Given the description of an element on the screen output the (x, y) to click on. 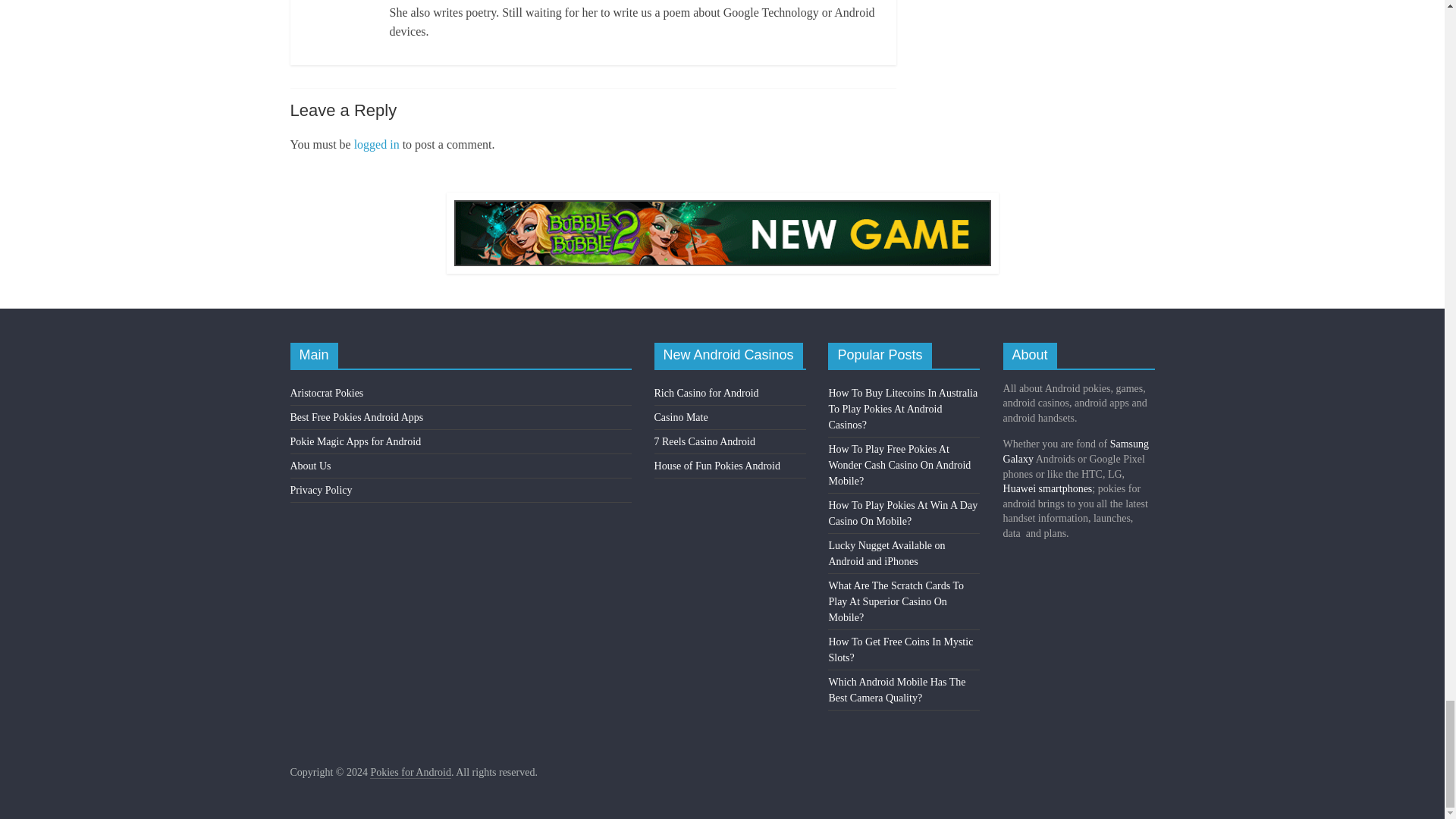
Pokies for Android (410, 772)
